Given the description of an element on the screen output the (x, y) to click on. 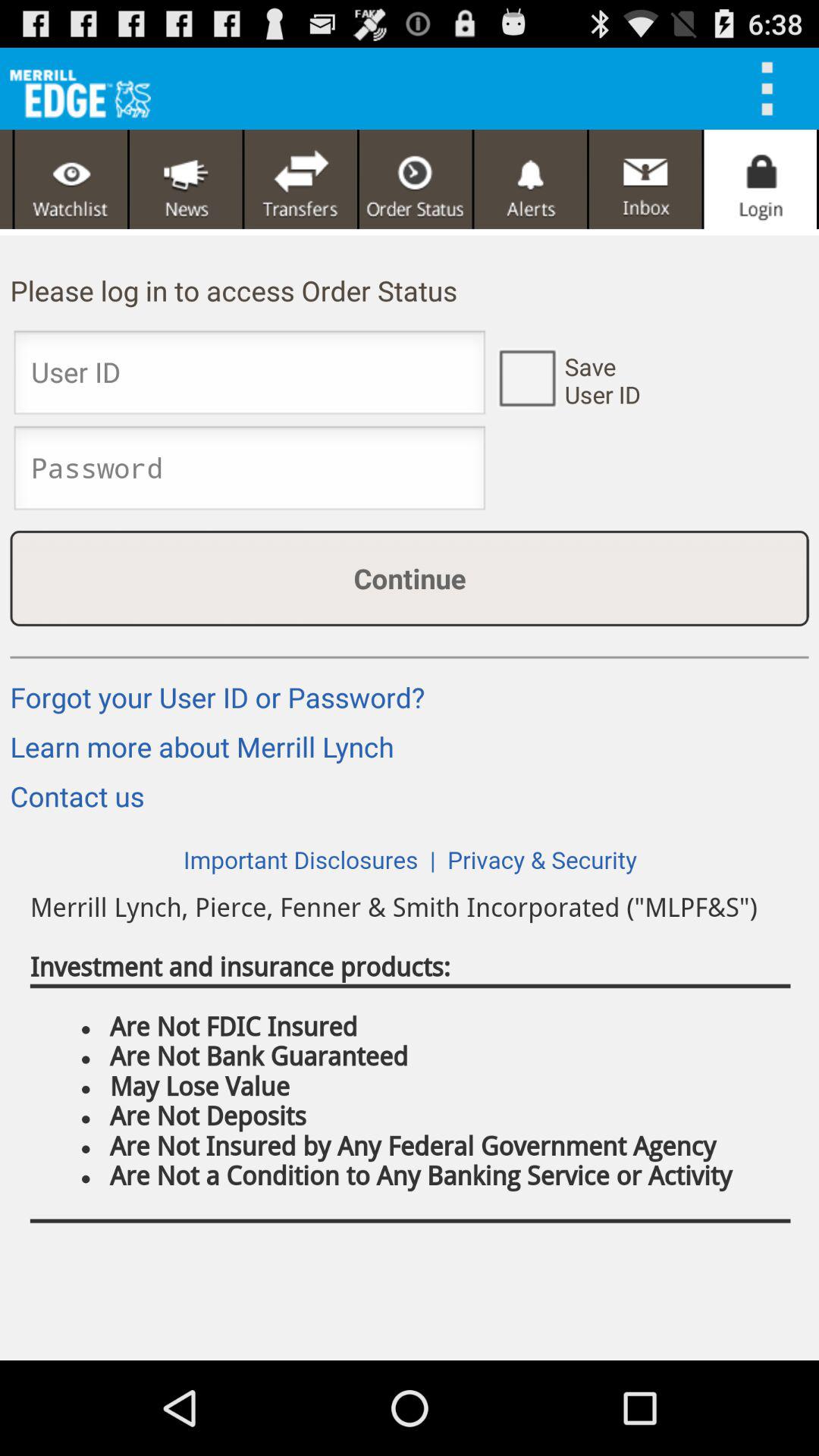
go to enter password screen (249, 472)
